Given the description of an element on the screen output the (x, y) to click on. 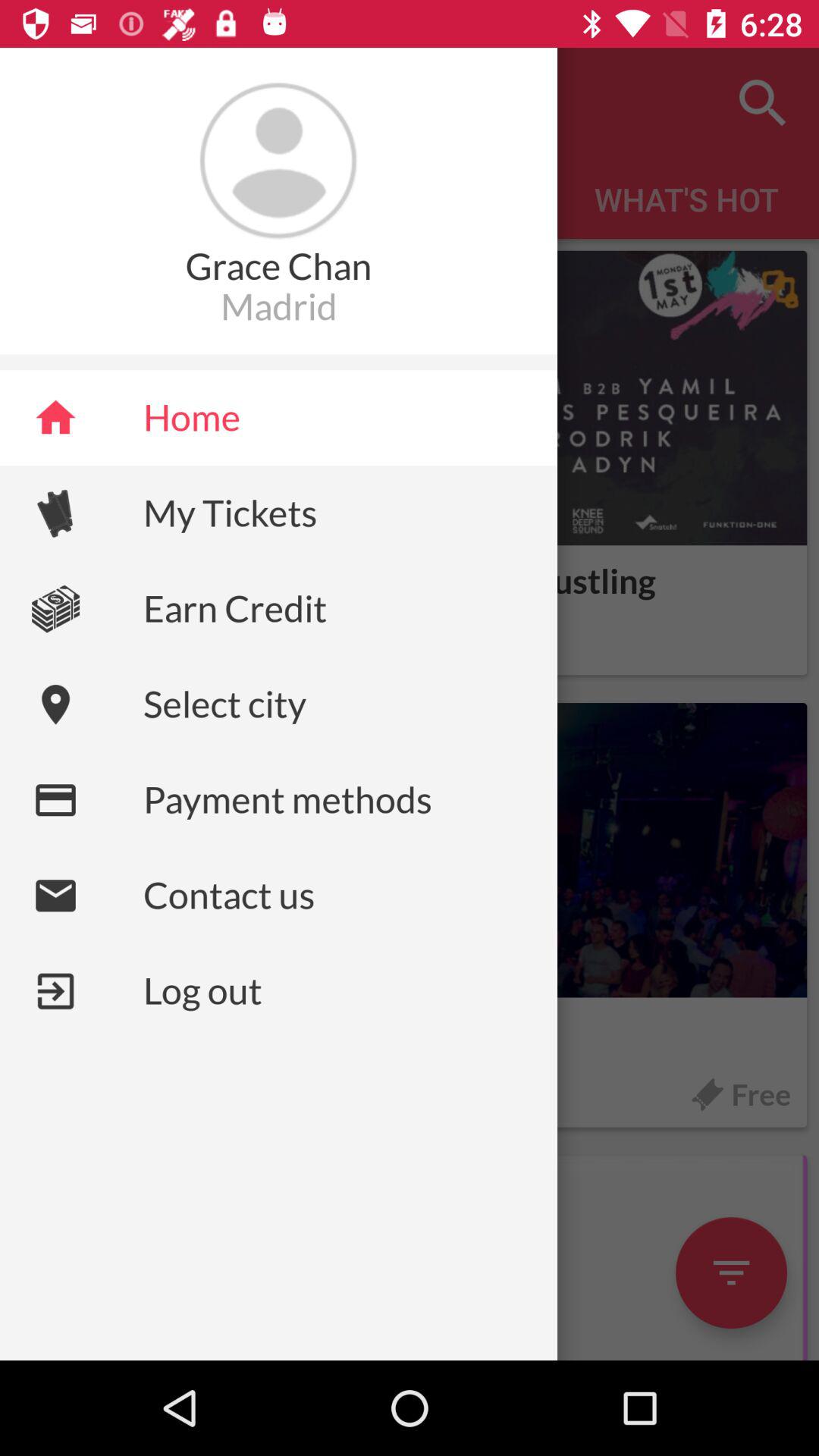
click on the button at the bottom right corner of the page (409, 1256)
